Given the description of an element on the screen output the (x, y) to click on. 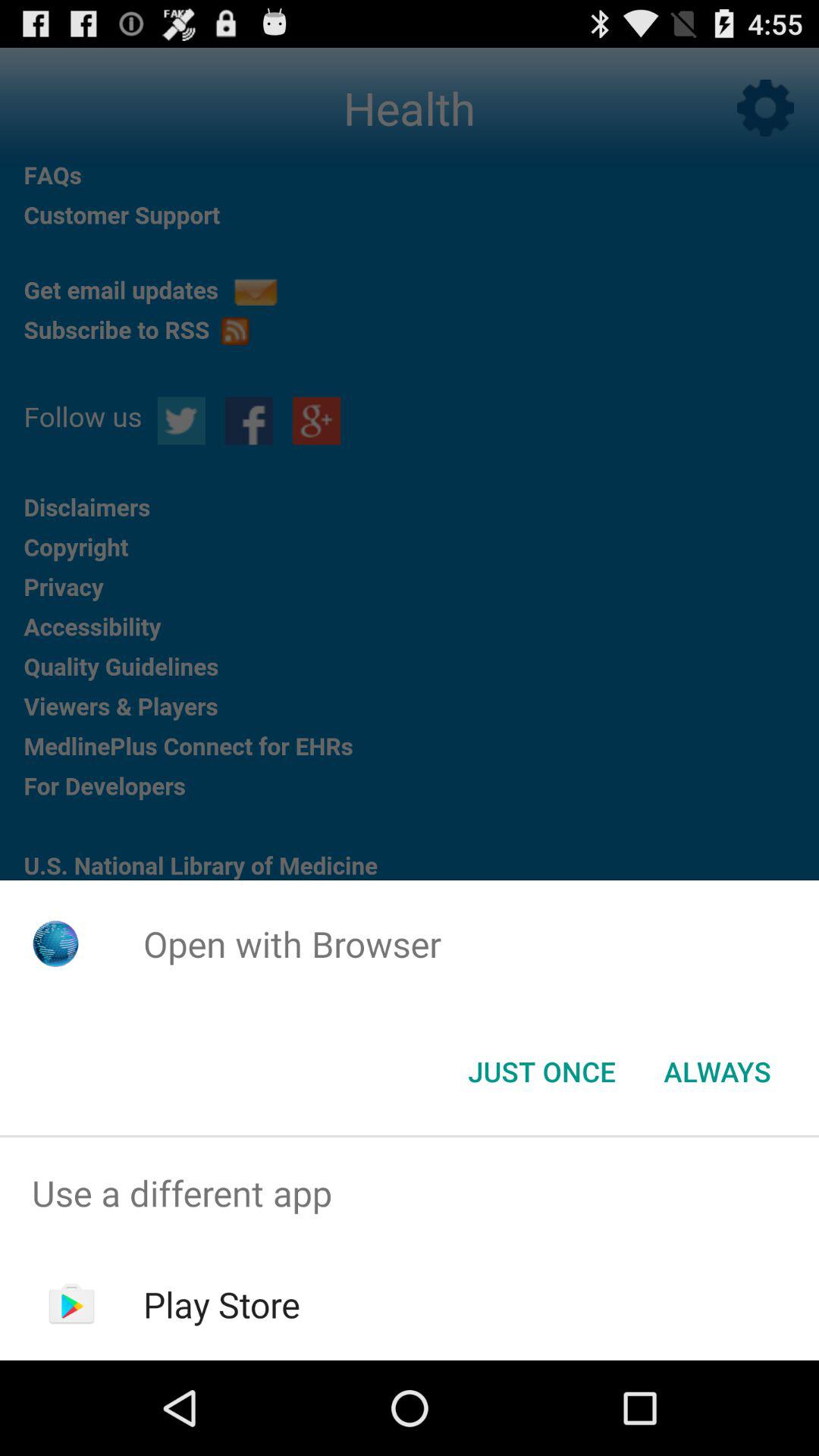
open icon below open with browser (541, 1071)
